Given the description of an element on the screen output the (x, y) to click on. 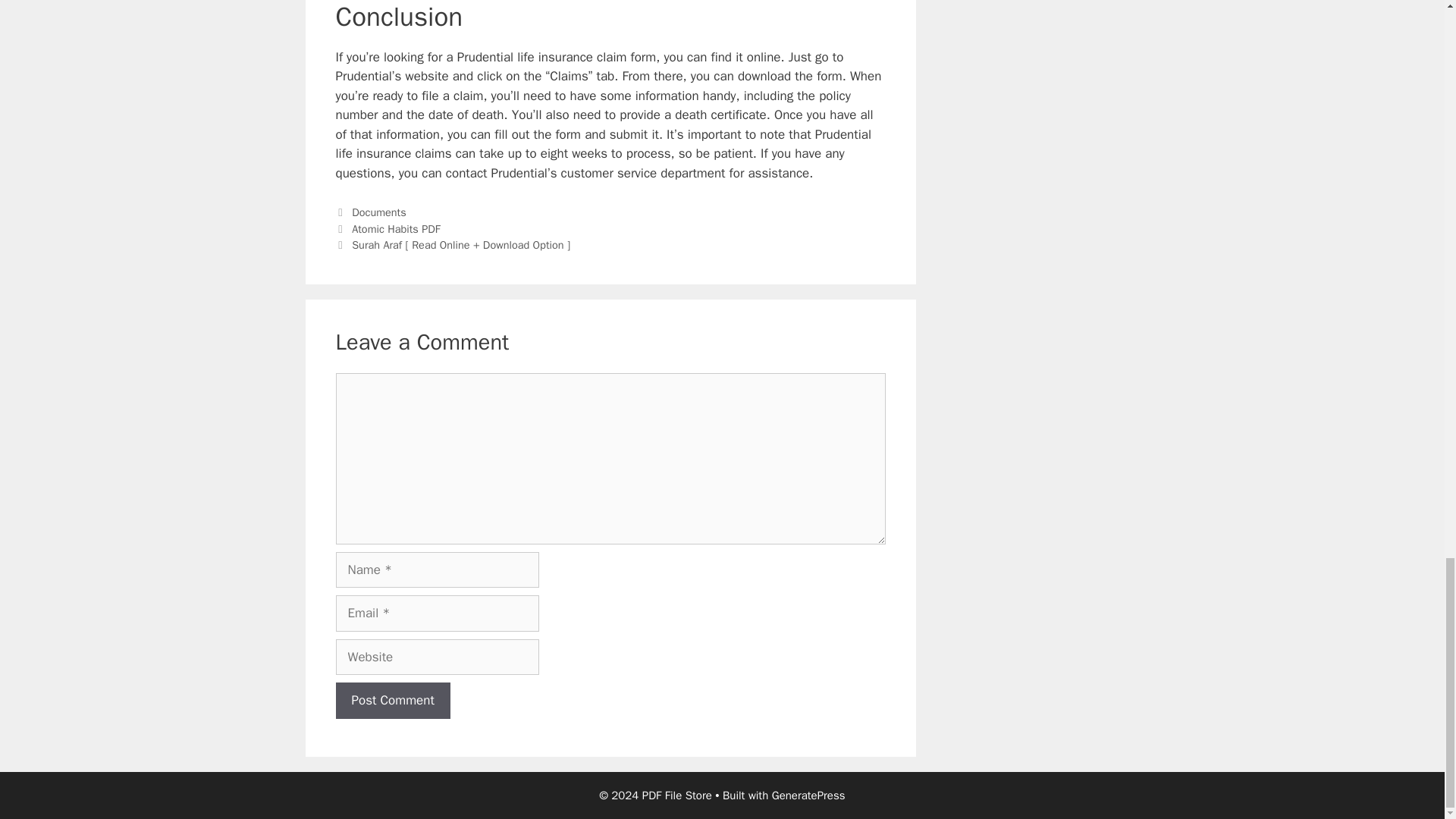
Post Comment (391, 700)
Post Comment (391, 700)
GeneratePress (808, 795)
Atomic Habits PDF (396, 228)
Documents (379, 212)
